Given the description of an element on the screen output the (x, y) to click on. 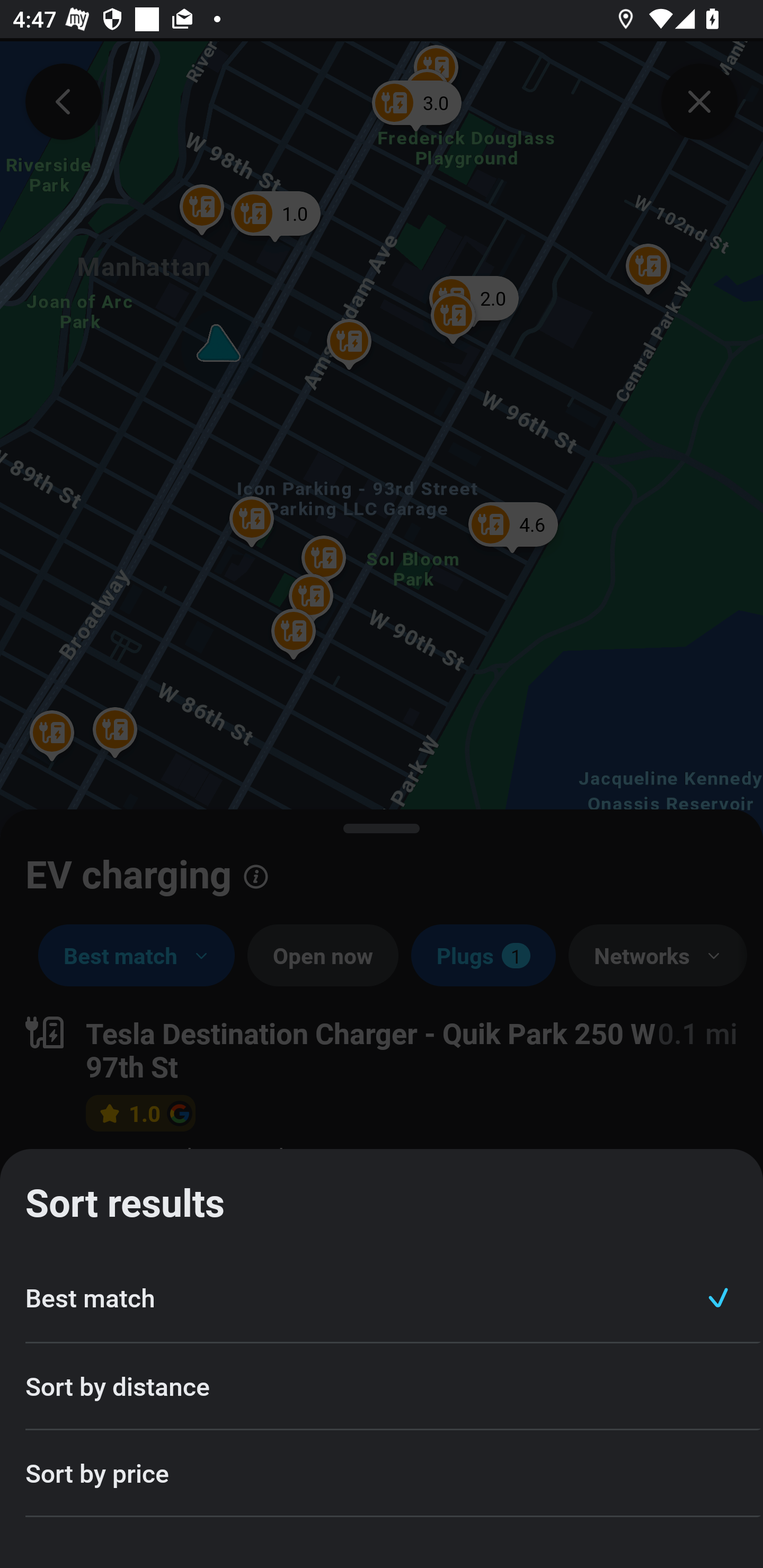
Best match ACTION_CELL_TEXT (381, 1297)
Sort by distance ACTION_CELL_TEXT (381, 1386)
Sort by price ACTION_CELL_TEXT (381, 1473)
